Given the description of an element on the screen output the (x, y) to click on. 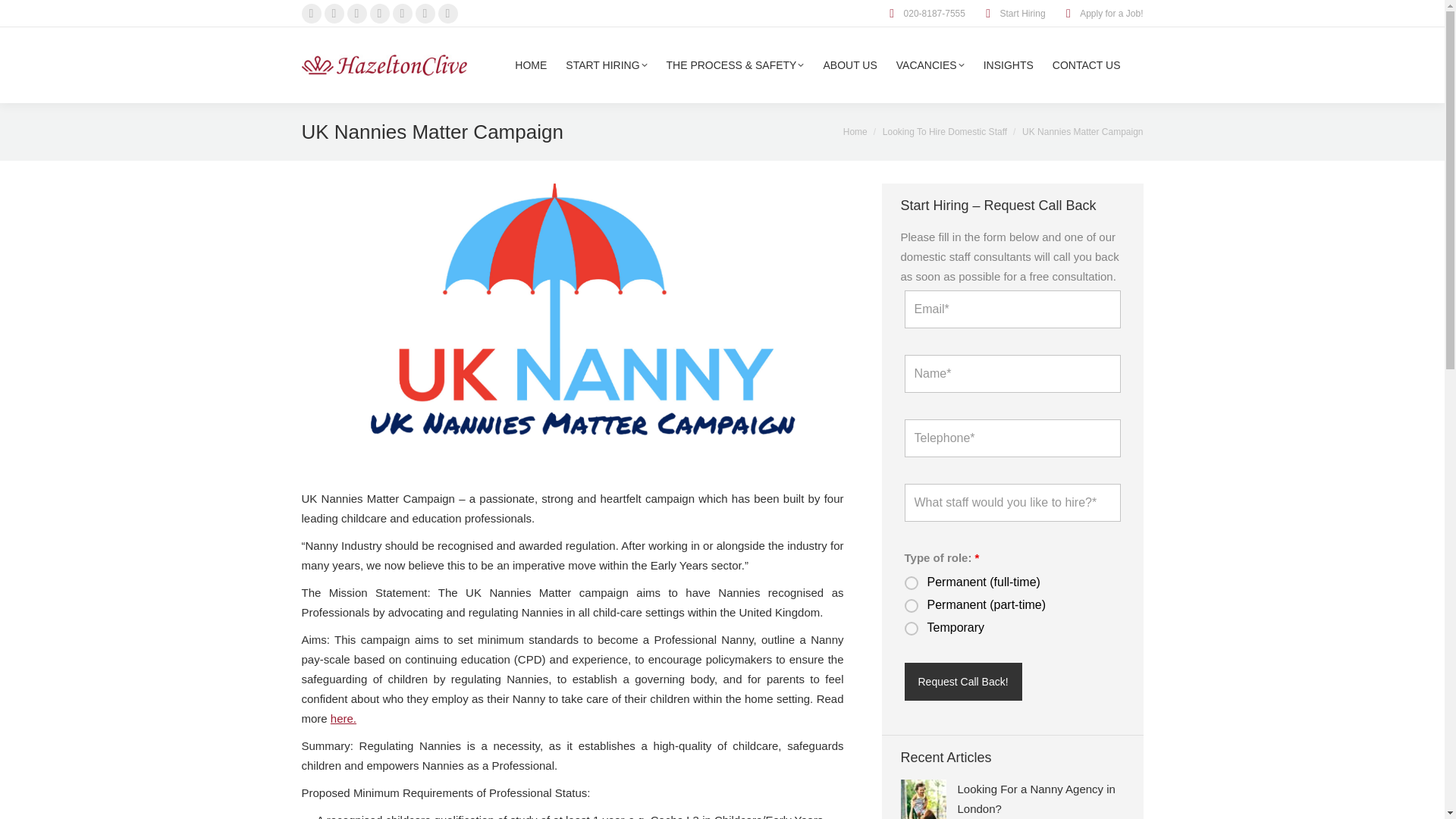
Apply for a Job! (1101, 13)
Linkedin page opens in new window (424, 13)
Start Hiring (1012, 13)
Whatsapp page opens in new window (448, 13)
Instagram page opens in new window (379, 13)
Request Call Back! (963, 681)
Facebook page opens in new window (311, 13)
Linkedin page opens in new window (424, 13)
Facebook page opens in new window (311, 13)
Twitter page opens in new window (333, 13)
Twitter page opens in new window (333, 13)
Instagram page opens in new window (379, 13)
START HIRING (606, 65)
YouTube page opens in new window (402, 13)
Whatsapp page opens in new window (448, 13)
